Given the description of an element on the screen output the (x, y) to click on. 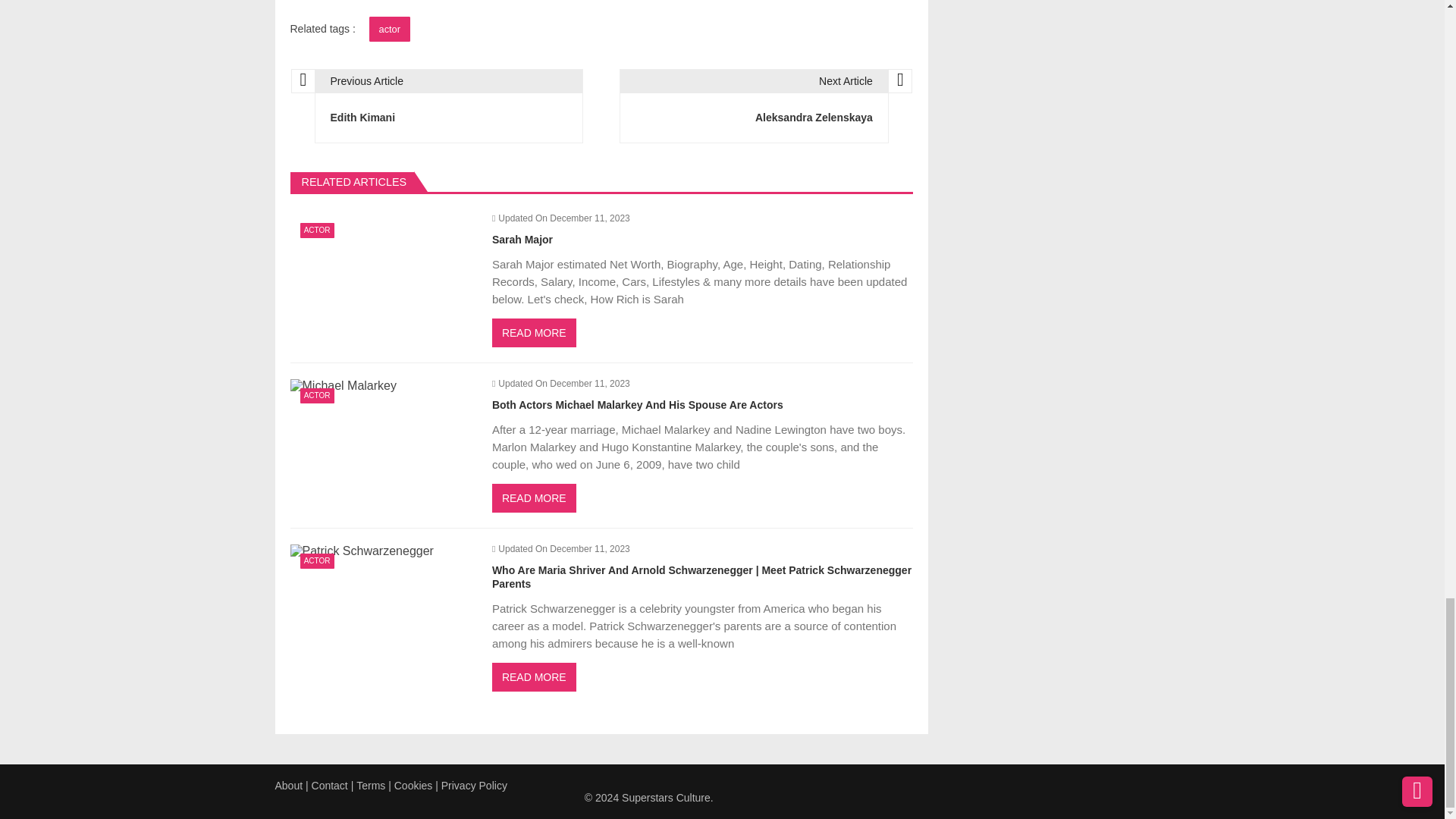
Both Actors Michael Malarkey And His Spouse Are Actors (342, 386)
